Given the description of an element on the screen output the (x, y) to click on. 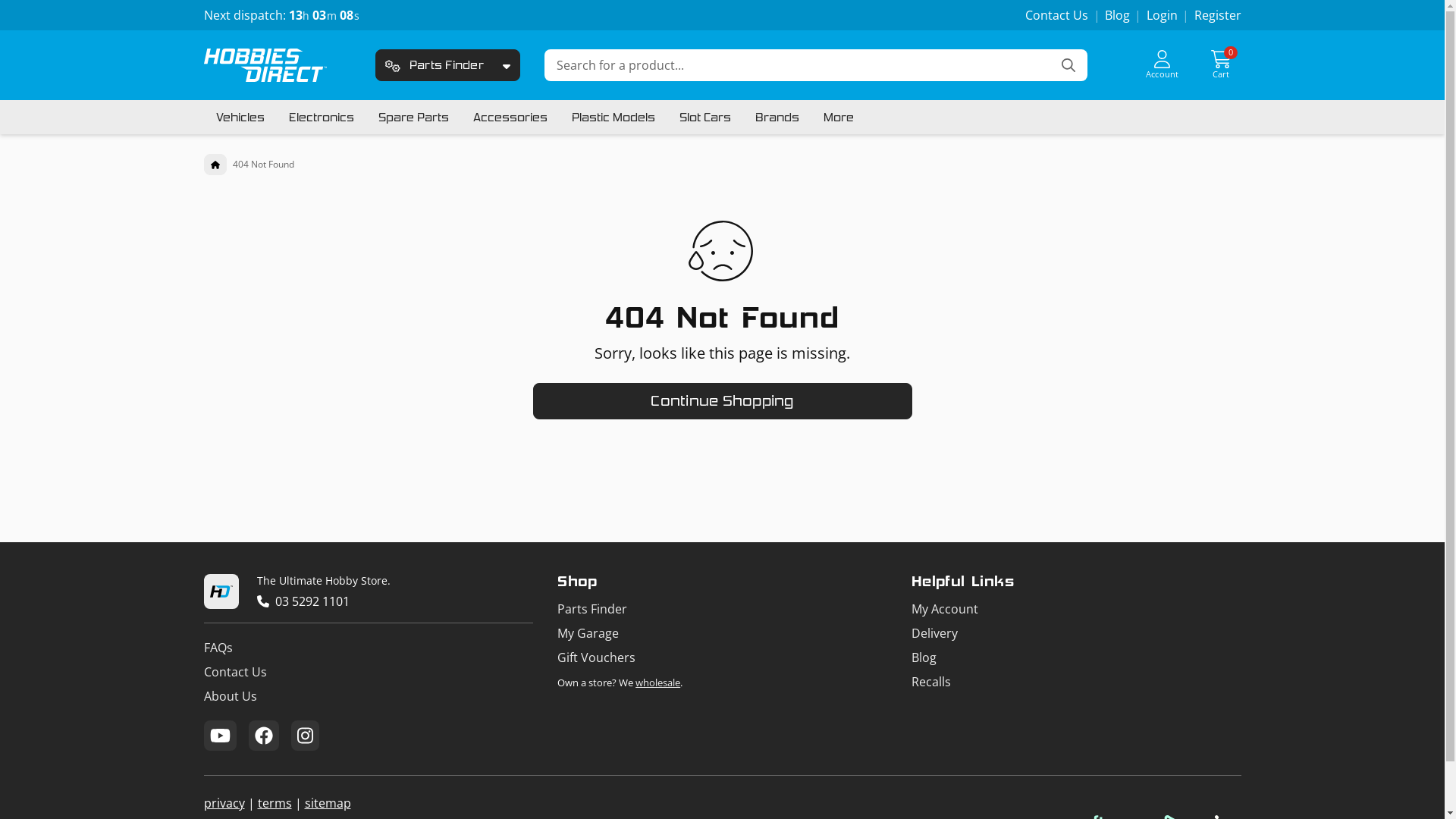
My Account Element type: text (1076, 608)
privacy Element type: text (223, 802)
03 5292 1101 Element type: text (311, 601)
Login Element type: text (1161, 14)
Blog Element type: text (1116, 14)
Gift Vouchers Element type: text (722, 657)
Contact Us Element type: text (368, 671)
Plastic Models Element type: text (613, 117)
Spare Parts Element type: text (412, 117)
FAQs Element type: text (368, 647)
About Us Element type: text (368, 696)
Slot Cars Element type: text (705, 117)
Contact Us Element type: text (1056, 14)
My Garage Element type: text (722, 633)
sitemap Element type: text (327, 802)
Register Element type: text (1216, 14)
Brands Element type: text (777, 117)
Recalls Element type: text (1076, 681)
Delivery Element type: text (1076, 633)
terms Element type: text (274, 802)
wholesale Element type: text (657, 682)
Parts Finder Element type: text (722, 608)
Electronics Element type: text (320, 117)
Accessories Element type: text (510, 117)
Vehicles Element type: text (239, 117)
0
Cart Element type: text (1221, 64)
Blog Element type: text (1076, 657)
Continue Shopping Element type: text (721, 400)
Account Element type: text (1162, 64)
Parts Finder Element type: text (434, 65)
